Given the description of an element on the screen output the (x, y) to click on. 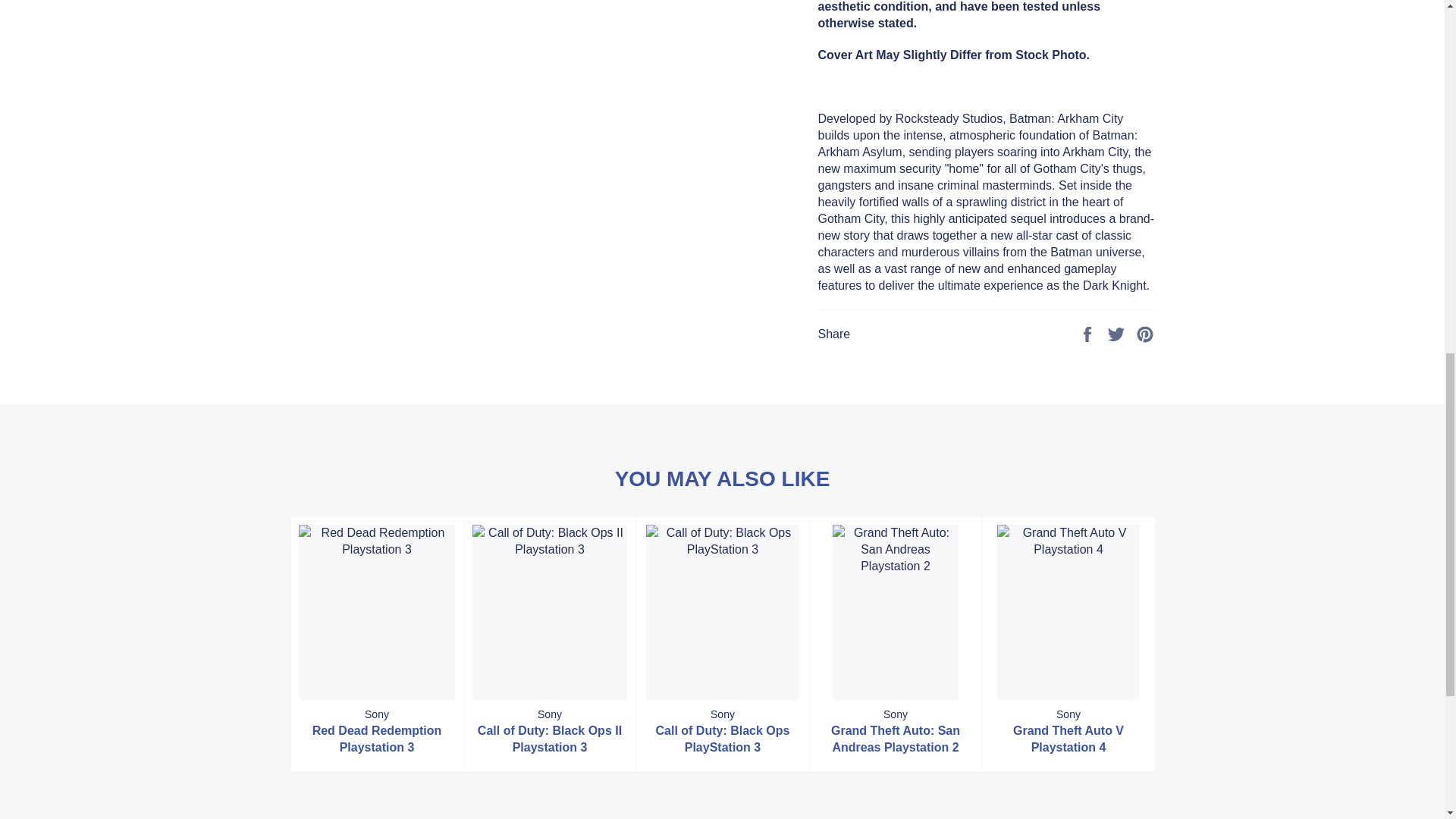
Tweet on Twitter (1117, 332)
Share on Facebook (1088, 332)
Pin on Pinterest (1144, 332)
